Given the description of an element on the screen output the (x, y) to click on. 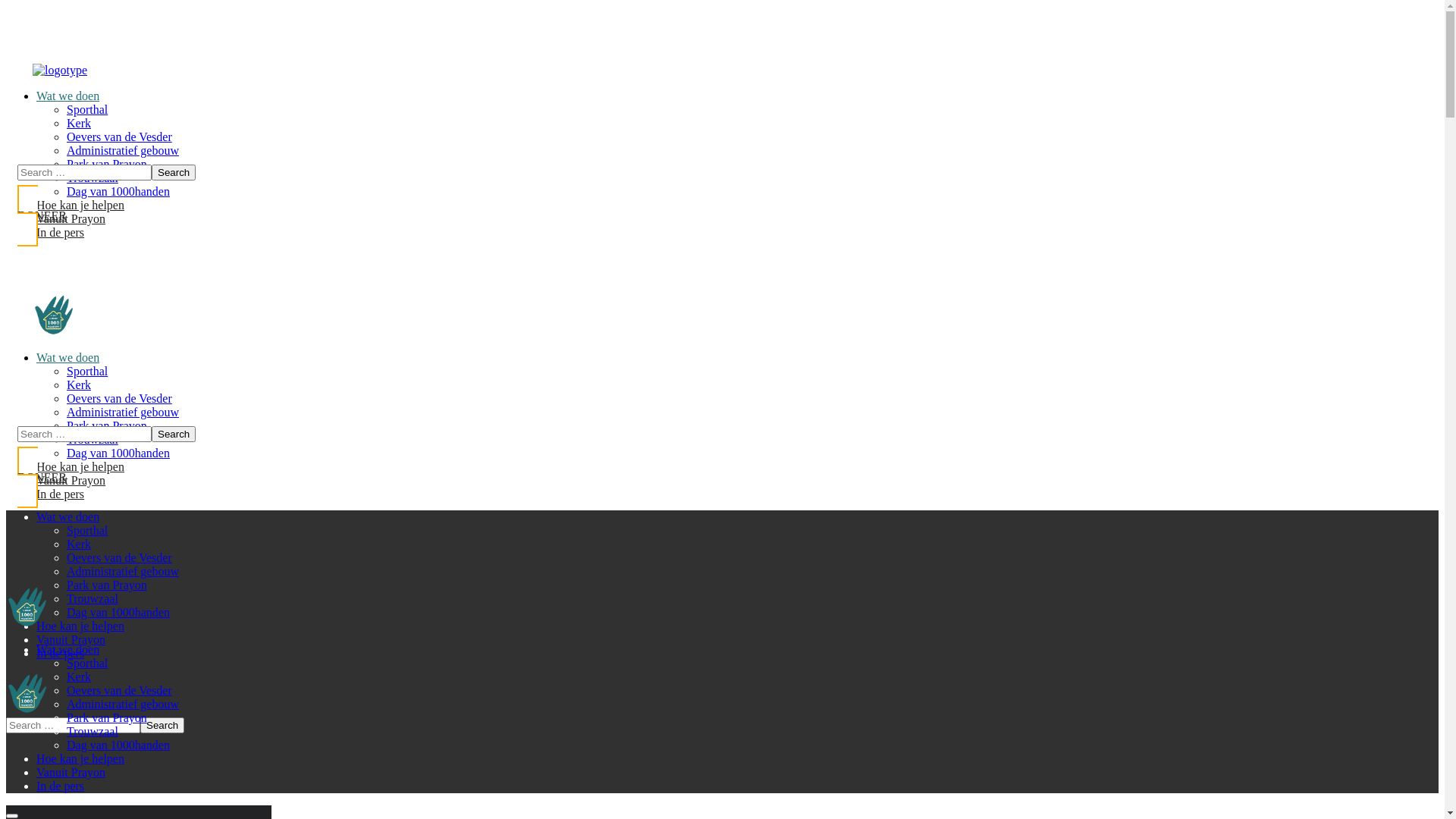
Sporthal Element type: text (86, 662)
Oevers van de Vesder Element type: text (119, 690)
Dag van 1000handen Element type: text (117, 744)
Hoe kan je helpen Element type: text (80, 204)
Hoe kan je helpen Element type: text (80, 625)
Vanuit Prayon Element type: text (70, 639)
Kerk Element type: text (78, 543)
Oevers van de Vesder Element type: text (119, 398)
Sporthal Element type: text (86, 370)
In de pers Element type: text (60, 785)
Dag van 1000handen Element type: text (117, 452)
Administratief gebouw Element type: text (122, 150)
Trouwzaal Element type: text (92, 177)
Kerk Element type: text (78, 122)
Hoe kan je helpen Element type: text (80, 758)
Park van Prayon Element type: text (106, 425)
Vanuit Prayon Element type: text (70, 771)
Vanuit Prayon Element type: text (70, 479)
Park van Prayon Element type: text (106, 584)
In de pers Element type: text (60, 231)
Park van Prayon Element type: text (106, 163)
Wat we doen Element type: text (67, 95)
DONEER Element type: text (181, 477)
Trouwzaal Element type: text (92, 439)
Oevers van de Vesder Element type: text (119, 557)
Vanuit Prayon Element type: text (70, 218)
Search Element type: text (173, 434)
Sporthal Element type: text (86, 109)
Administratief gebouw Element type: text (122, 570)
Administratief gebouw Element type: text (122, 411)
Oevers van de Vesder Element type: text (119, 136)
Trouwzaal Element type: text (92, 598)
In de pers Element type: text (60, 652)
Trouwzaal Element type: text (92, 730)
Dag van 1000handen Element type: text (117, 191)
Wat we doen Element type: text (67, 357)
Wat we doen Element type: text (67, 649)
Kerk Element type: text (78, 676)
Administratief gebouw Element type: text (122, 703)
Sporthal Element type: text (86, 530)
DONEER Element type: text (181, 215)
In de pers Element type: text (60, 493)
Wat we doen Element type: text (67, 516)
Dag van 1000handen Element type: text (117, 611)
Park van Prayon Element type: text (106, 717)
Search Element type: text (162, 725)
Search Element type: text (173, 172)
Kerk Element type: text (78, 384)
Hoe kan je helpen Element type: text (80, 466)
